Given the description of an element on the screen output the (x, y) to click on. 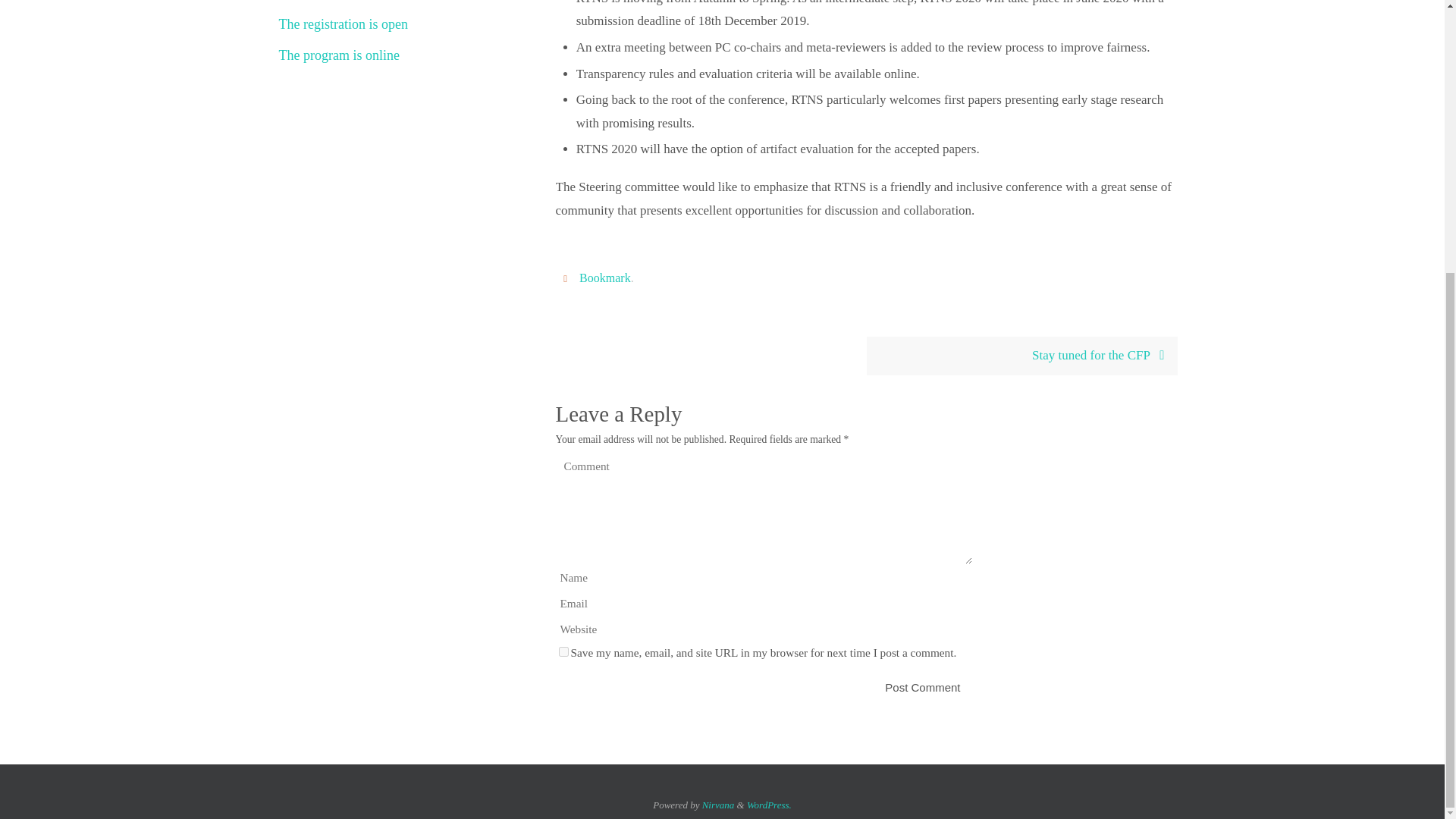
Permalink to RTNS is moving (604, 278)
Post Comment (922, 686)
The registration is open (343, 24)
 Bookmark the permalink (566, 277)
Bookmark (604, 278)
The program is online (338, 55)
Semantic Personal Publishing Platform (769, 804)
Stay tuned for the CFP (1021, 355)
yes (562, 651)
Post Comment (922, 686)
WordPress. (769, 804)
Nirvana Theme by Cryout Creations (718, 804)
Nirvana (718, 804)
